Given the description of an element on the screen output the (x, y) to click on. 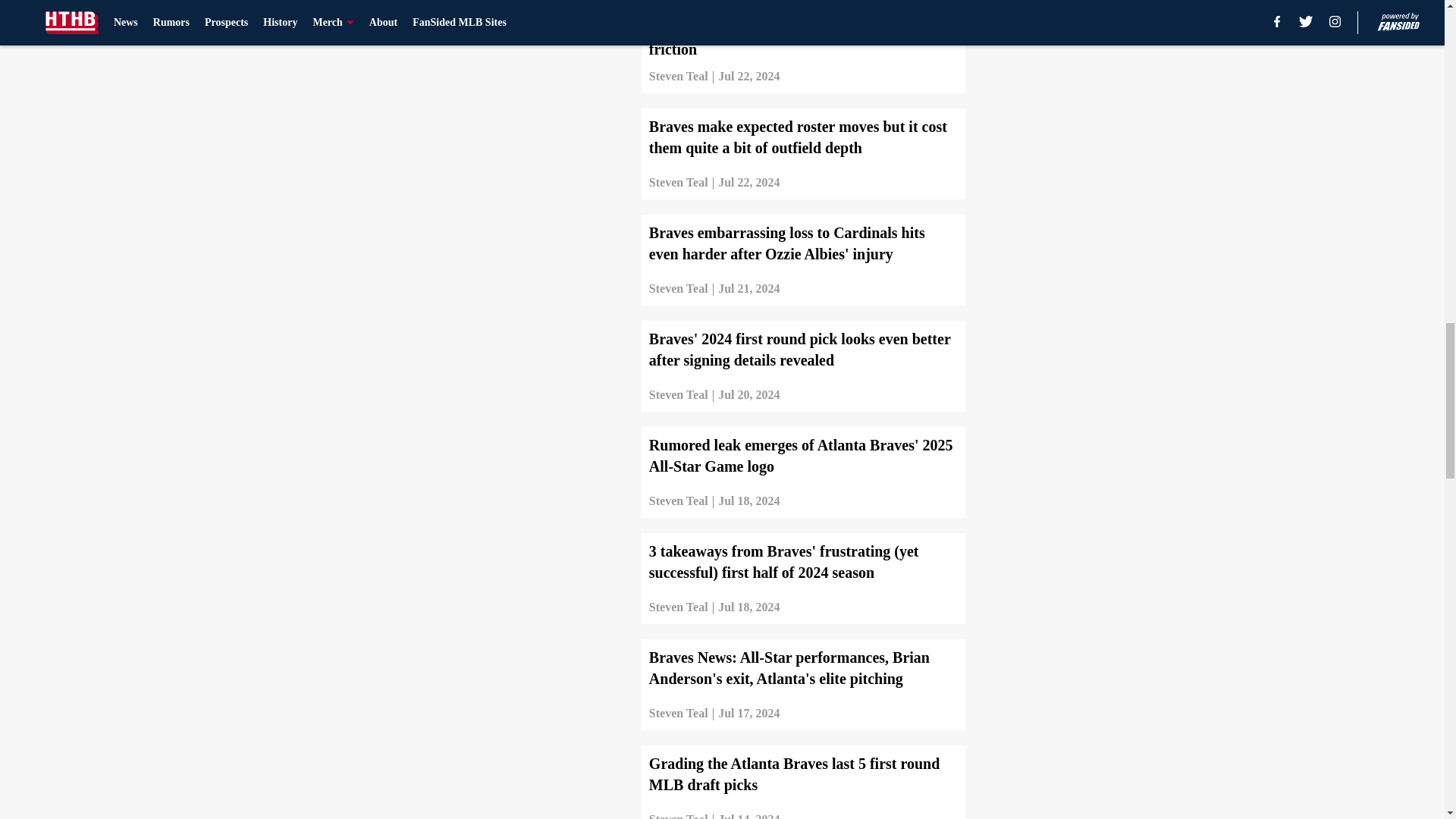
Steven Teal (678, 76)
